Given the description of an element on the screen output the (x, y) to click on. 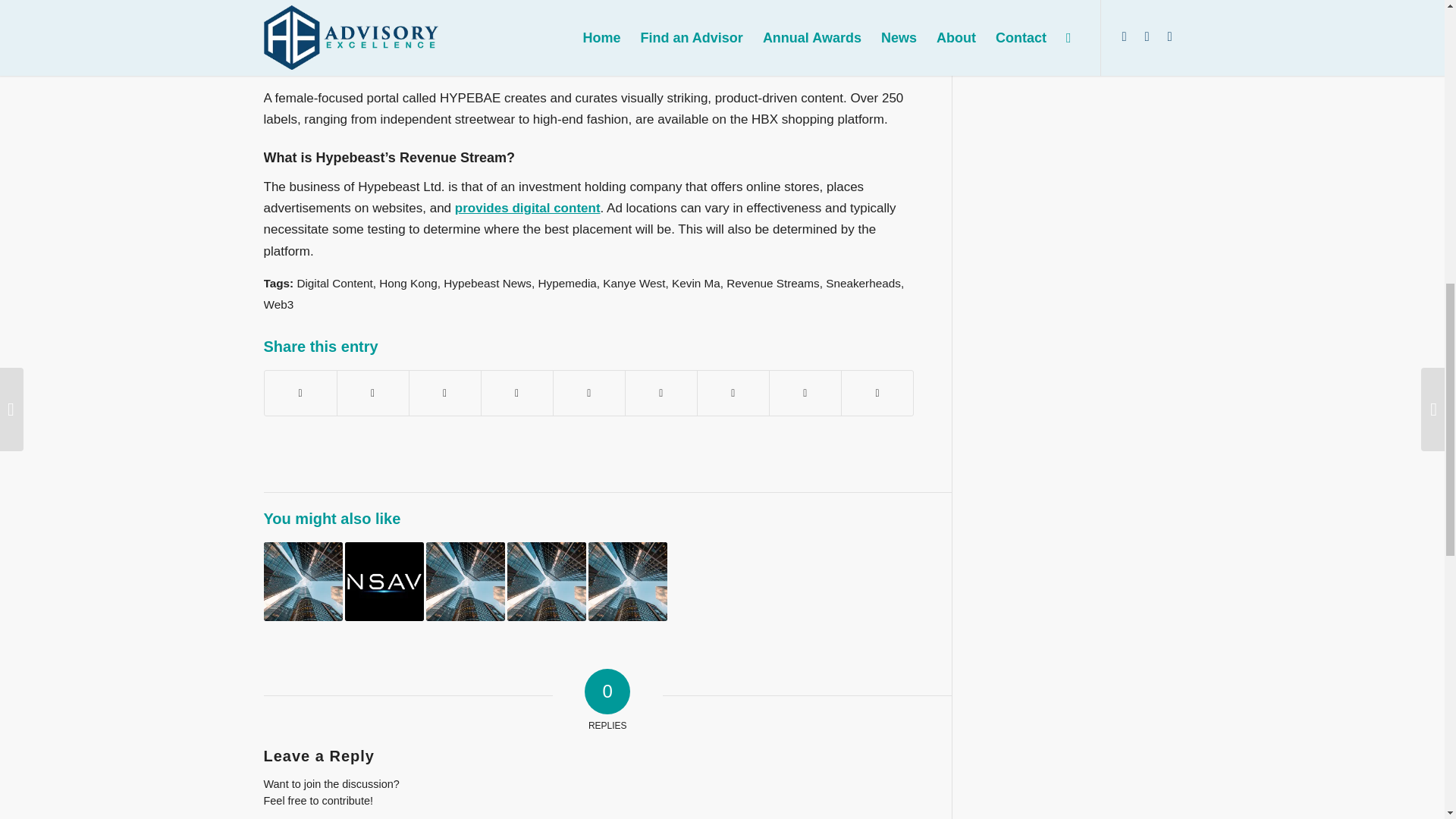
Hong Kong (408, 282)
Kevin Ma (695, 282)
provides digital content (526, 207)
Kanye West (633, 282)
Hypebeast News (487, 282)
Sneakerheads (863, 282)
Web3 (278, 304)
Digital Content (334, 282)
Hypemedia (566, 282)
Revenue Streams (772, 282)
